Given the description of an element on the screen output the (x, y) to click on. 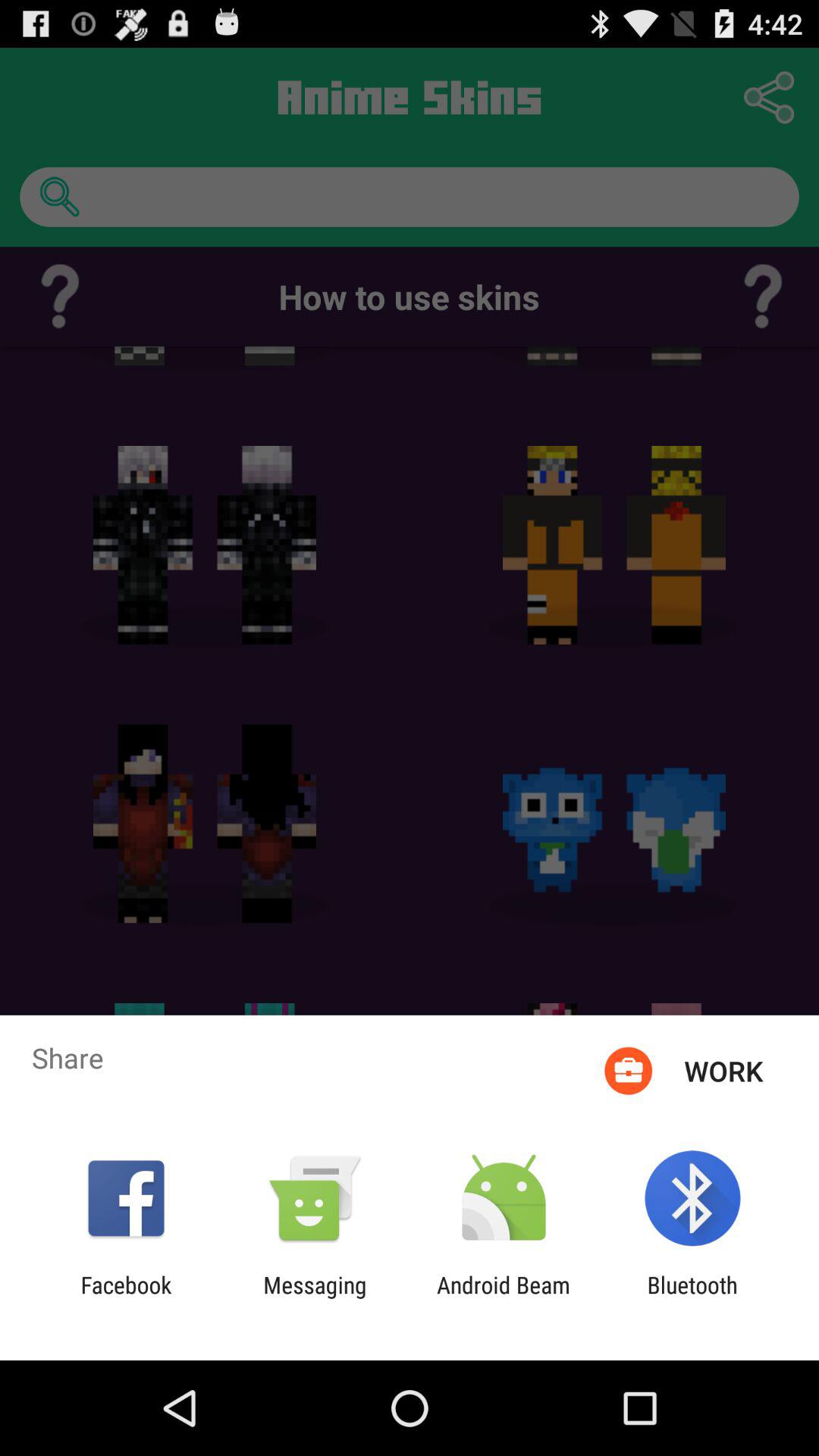
choose the app to the right of the facebook app (314, 1298)
